Given the description of an element on the screen output the (x, y) to click on. 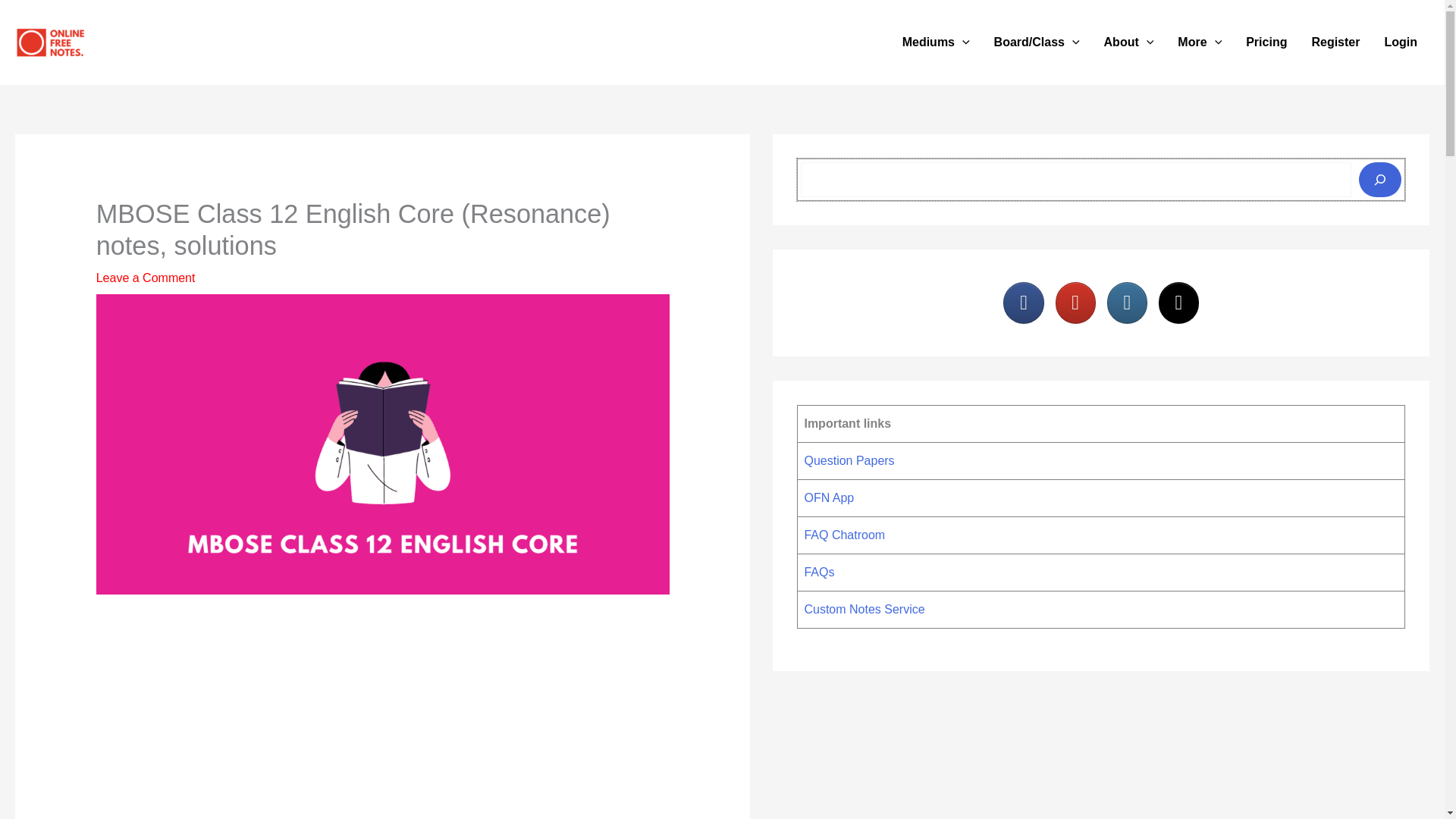
Register (1334, 42)
Facebook (1023, 302)
More (1199, 42)
Advertisement (382, 719)
YouTube (1075, 302)
About (1129, 42)
Mediums (935, 42)
Pricing (1265, 42)
 on X Twitter (1178, 302)
Login (1400, 42)
Instagram (1126, 302)
